Given the description of an element on the screen output the (x, y) to click on. 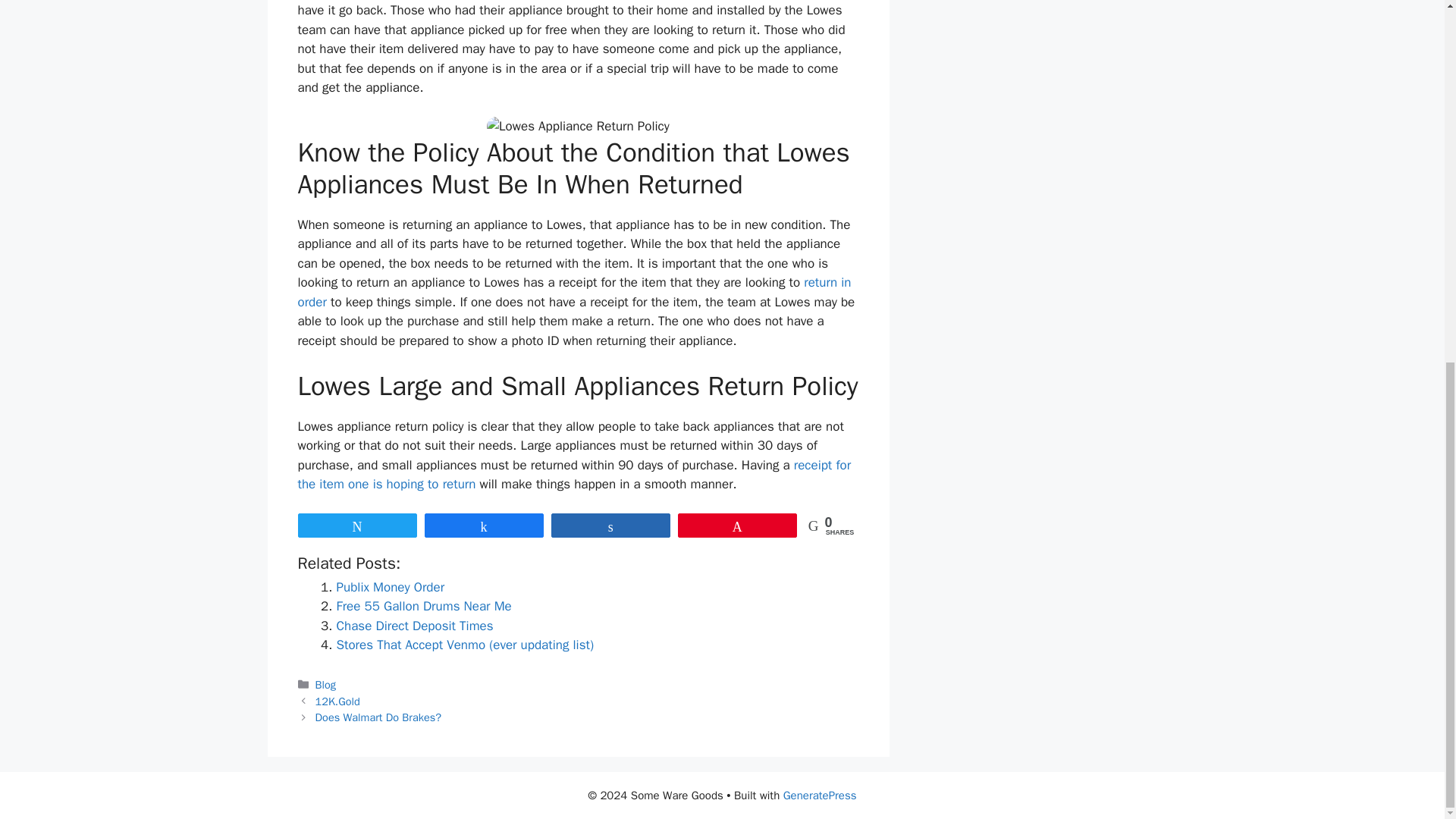
Chase Direct Deposit Times (414, 625)
return in order (573, 292)
Free 55 Gallon Drums Near Me (424, 606)
12K.Gold (337, 700)
Blog (325, 684)
receipt for the item one is hoping to return (573, 475)
Chase Direct Deposit Times (414, 625)
Next (378, 716)
Publix Money Order (390, 587)
Publix Money Order (390, 587)
GeneratePress (820, 795)
Free 55 Gallon Drums Near Me (424, 606)
Previous (337, 700)
Does Walmart Do Brakes? (378, 716)
